Given the description of an element on the screen output the (x, y) to click on. 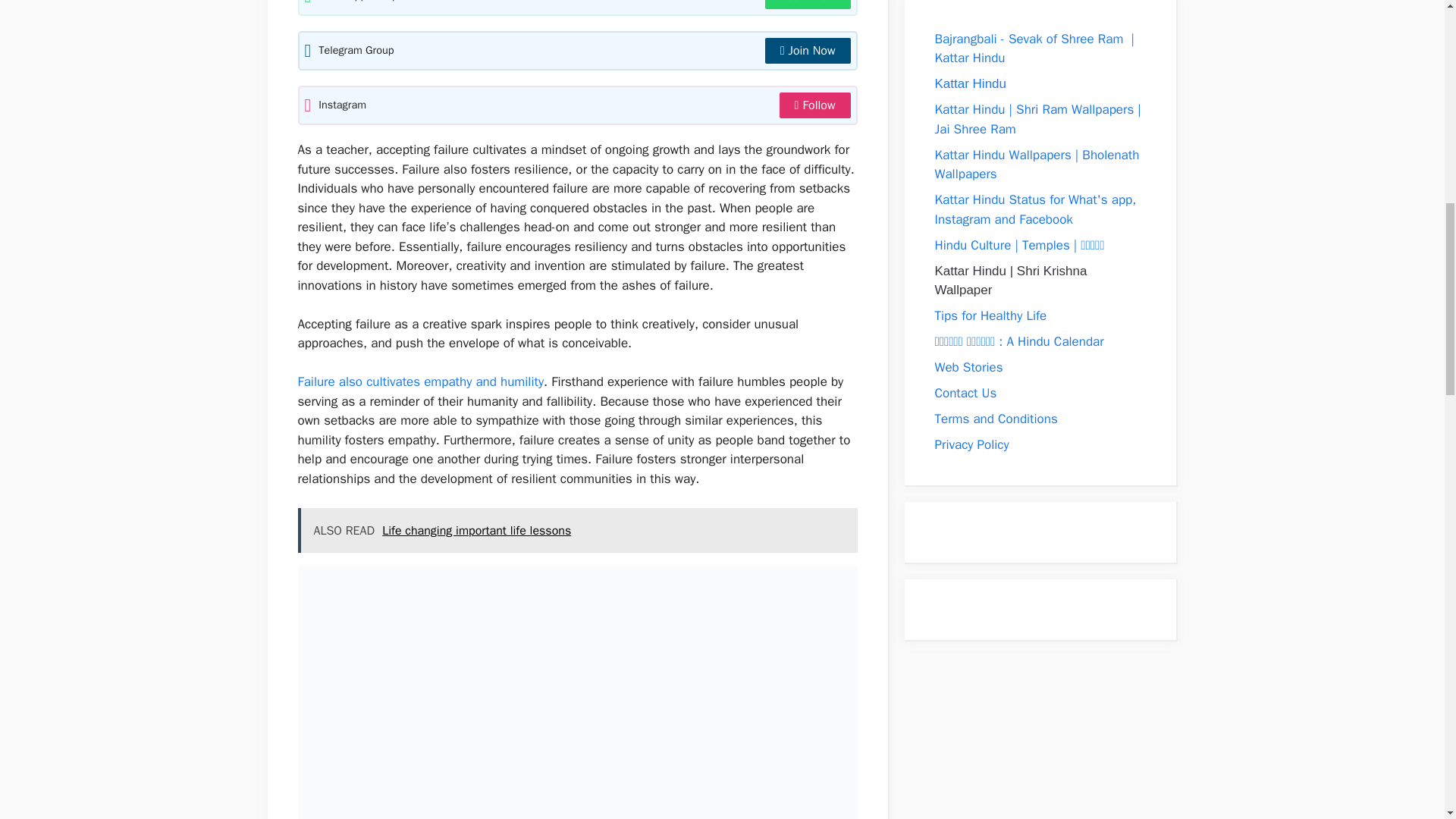
Scroll back to top (1406, 720)
Follow (814, 104)
ailure also cultivates empathy and humility (423, 381)
Join Now (807, 50)
F (299, 381)
ALSO READ  Life changing important life lessons (577, 530)
Join Now (807, 4)
